Given the description of an element on the screen output the (x, y) to click on. 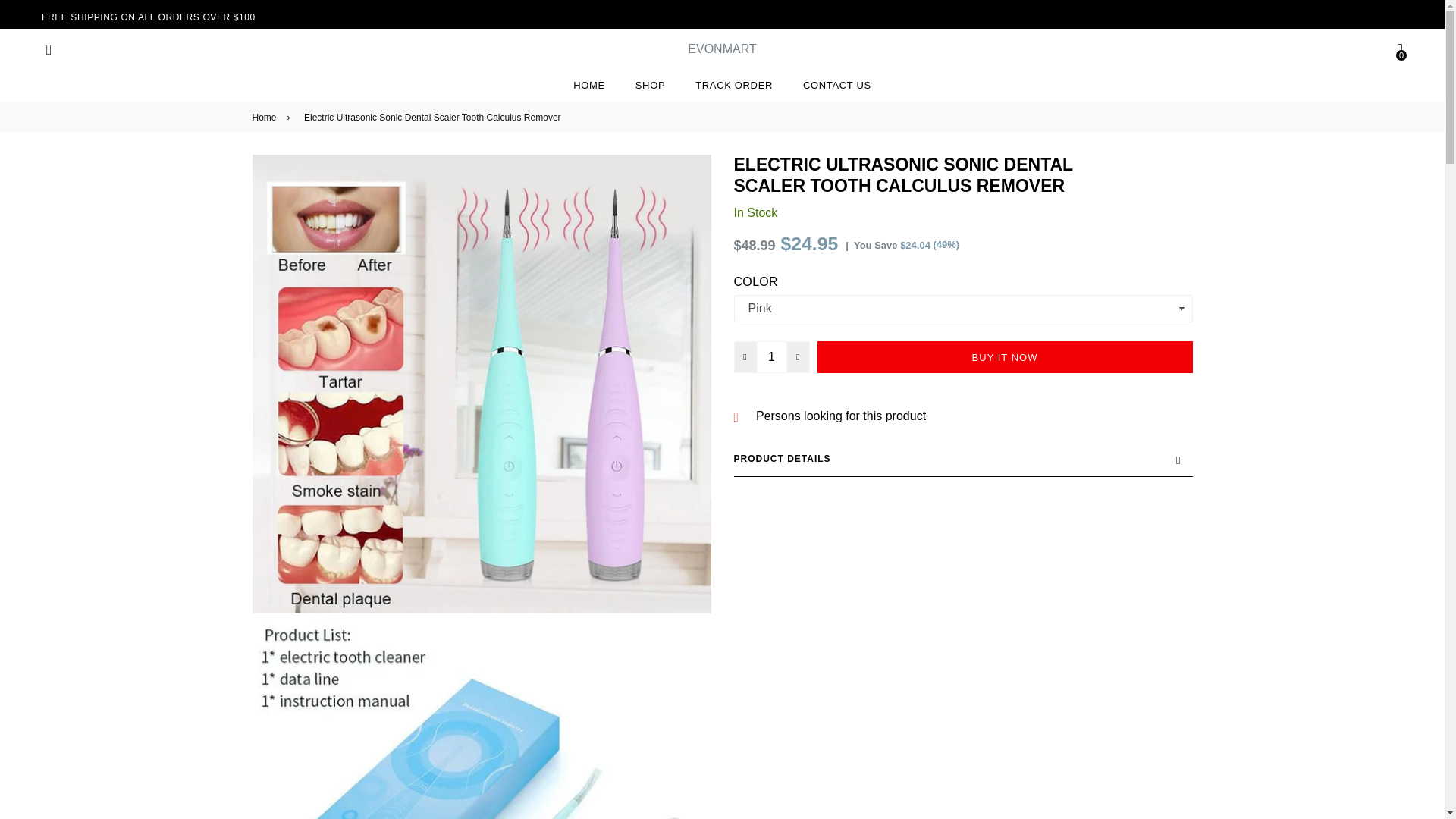
PRODUCT DETAILS (962, 458)
TRACK ORDER (733, 85)
Back to the home page (266, 117)
SHOP (649, 85)
BUY IT NOW (1004, 357)
CONTACT US (836, 85)
Home (266, 117)
HOME (588, 85)
1 (772, 357)
EVONMART (721, 49)
